Given the description of an element on the screen output the (x, y) to click on. 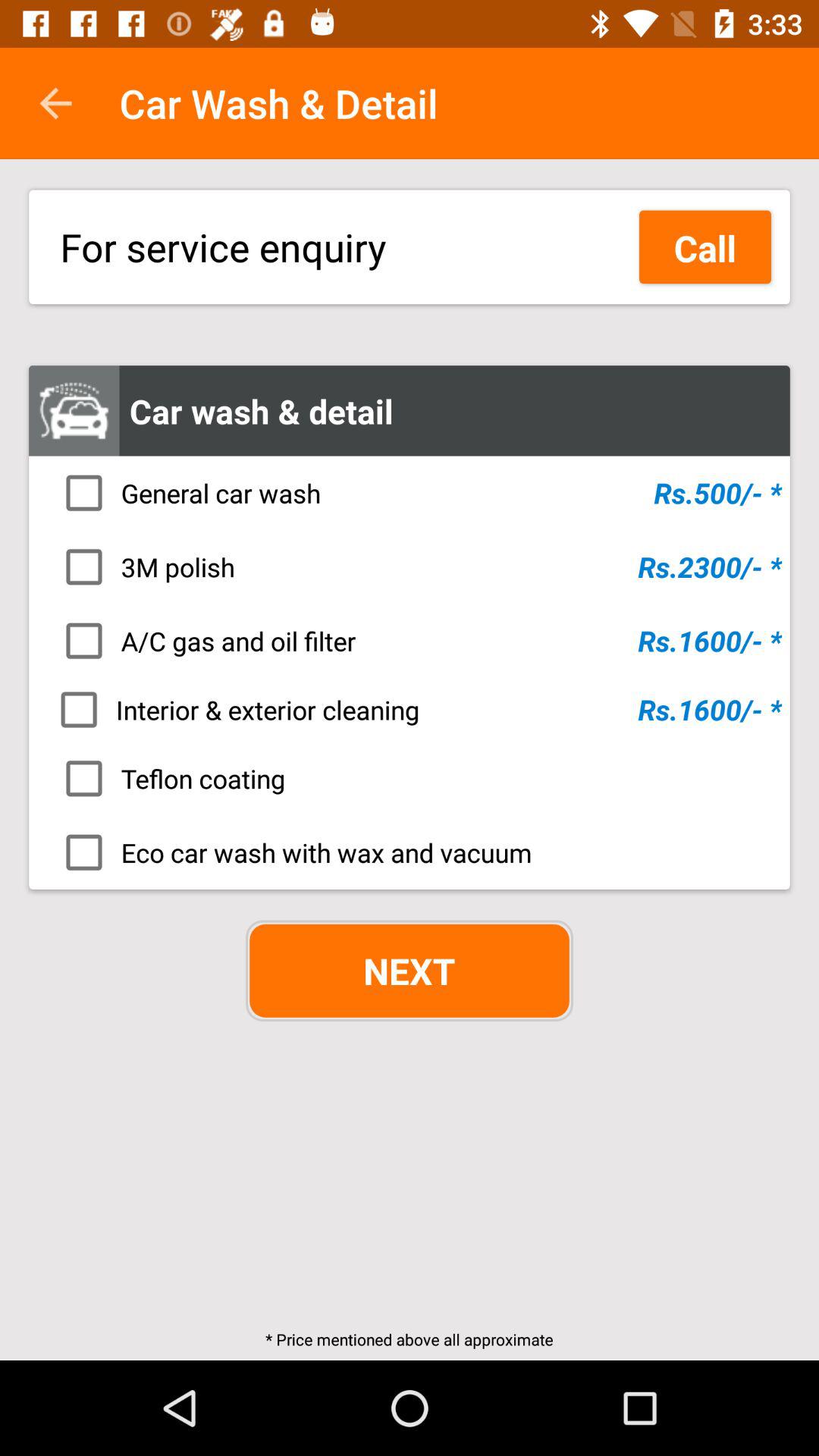
launch the icon below the a c gas (414, 709)
